Given the description of an element on the screen output the (x, y) to click on. 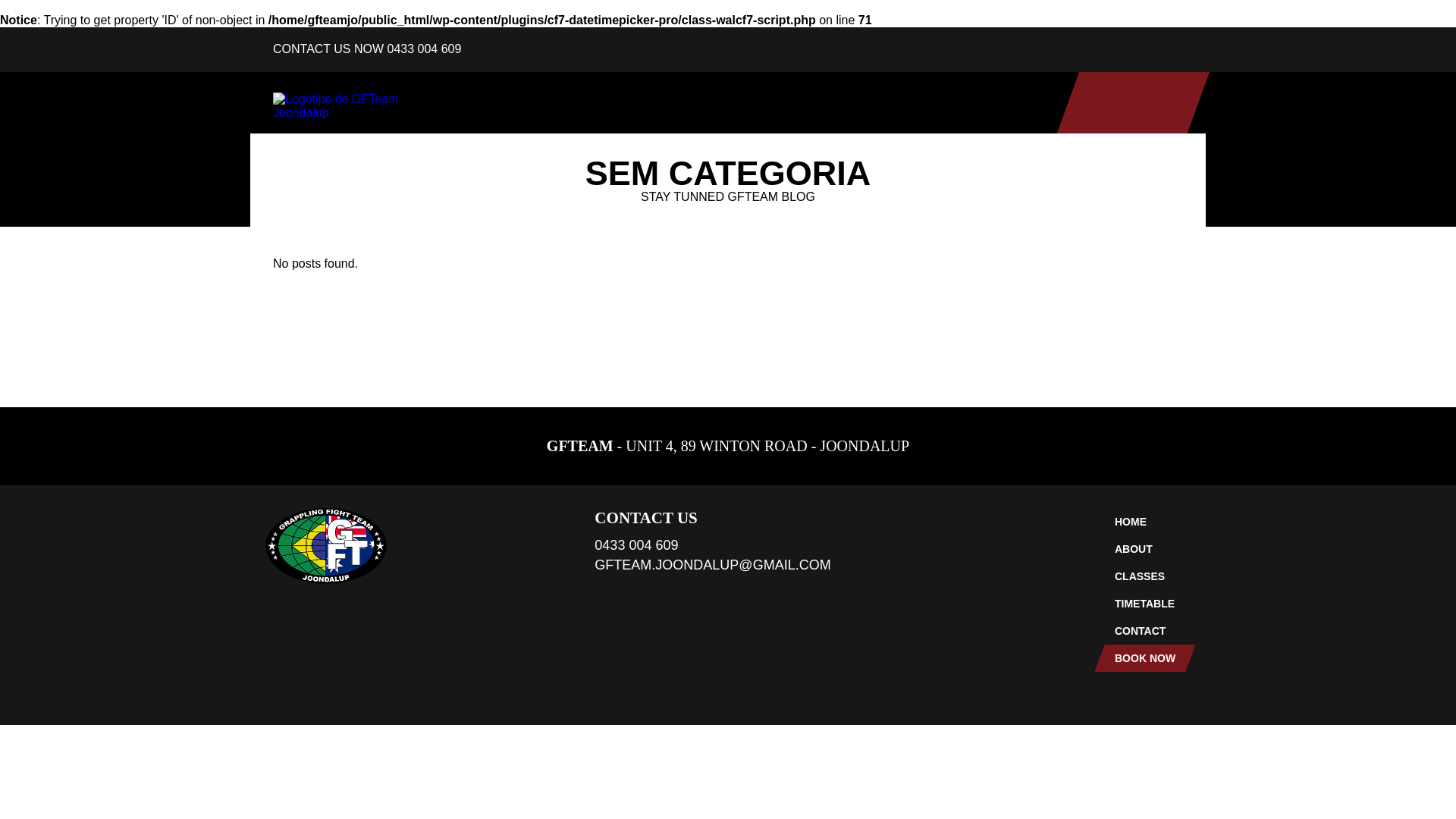
CONTACT Element type: text (961, 149)
TIMETABLE Element type: text (1139, 603)
BOOK NOW Element type: text (1139, 657)
HOME Element type: text (496, 149)
CLASSES Element type: text (1139, 575)
HOME Element type: text (1139, 521)
CLASSES Element type: text (711, 149)
GFTeam Joondalup Element type: hover (364, 105)
ABOUT Element type: text (598, 149)
GFTEAM.JOONDALUP@GMAIL.COM Element type: text (712, 564)
BOOK NOW Element type: text (1087, 149)
CONTACT Element type: text (1139, 630)
ABOUT Element type: text (1139, 548)
TIMETABLE Element type: text (835, 149)
